Given the description of an element on the screen output the (x, y) to click on. 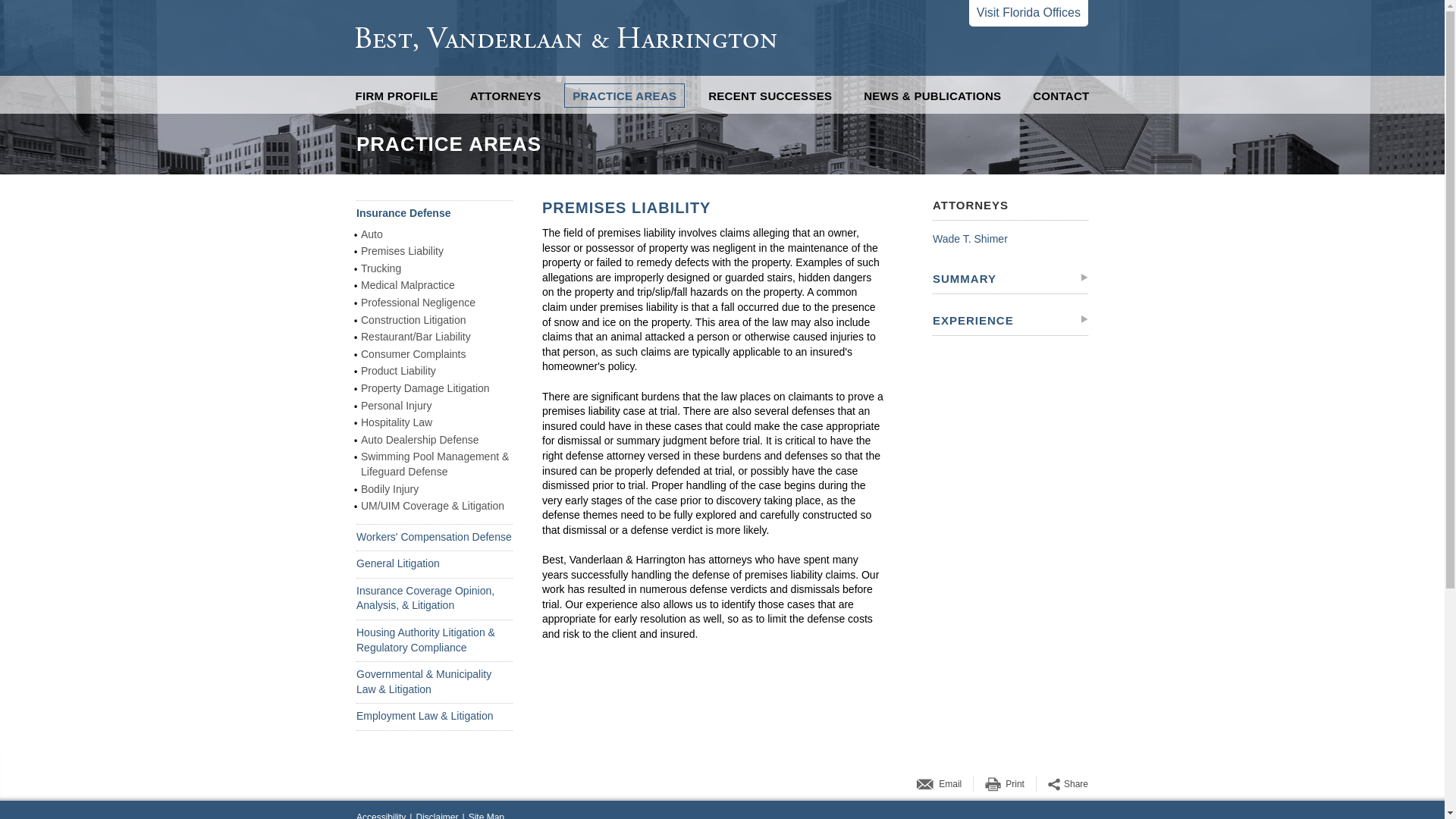
ATTORNEYS (505, 95)
Visit Florida Offices (1028, 13)
FIRM PROFILE (396, 95)
RECENT SUCCESSES (770, 95)
PRACTICE AREAS (624, 95)
CONTACT (1061, 95)
